Given the description of an element on the screen output the (x, y) to click on. 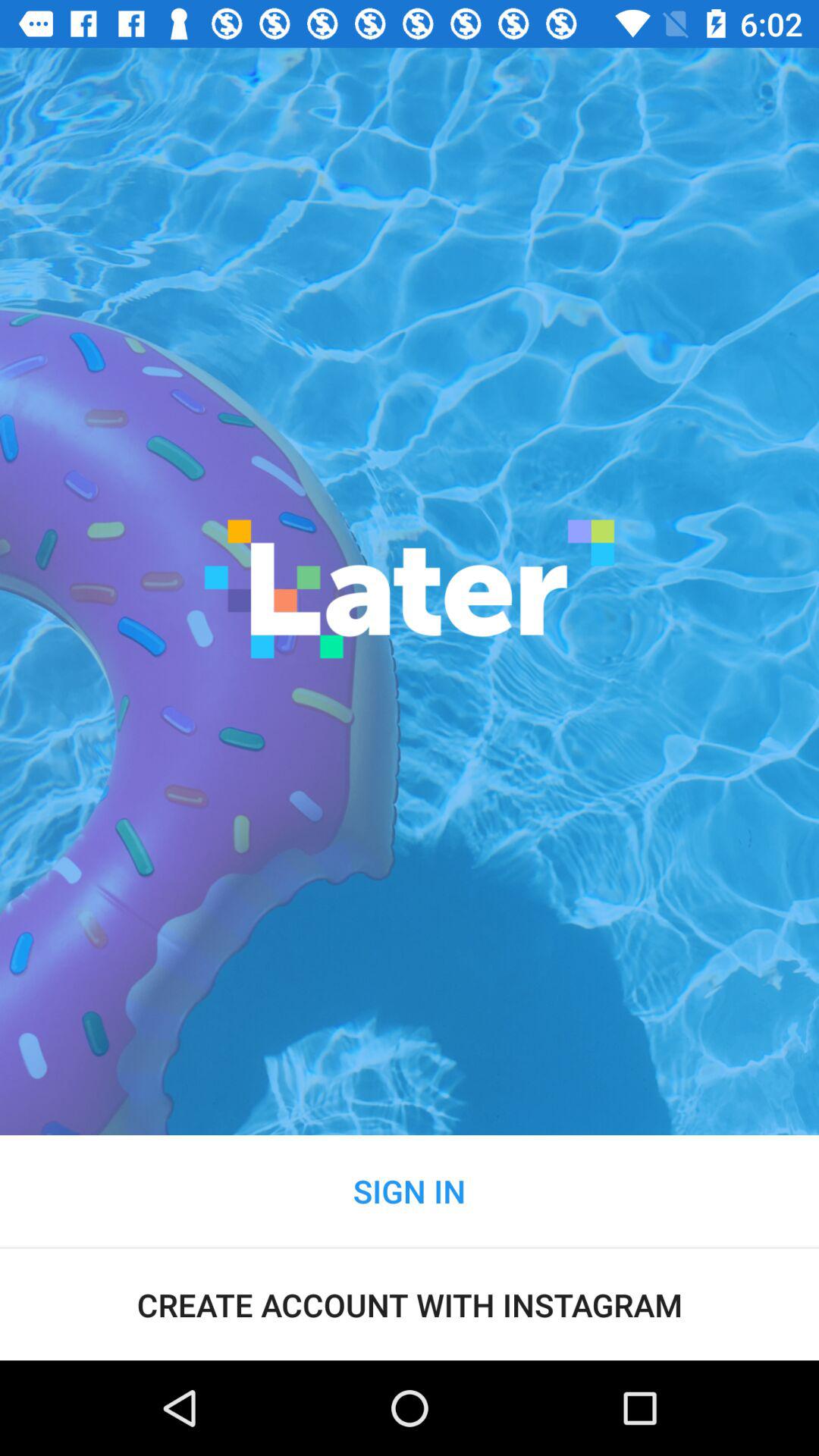
swipe to the sign in item (409, 1190)
